Given the description of an element on the screen output the (x, y) to click on. 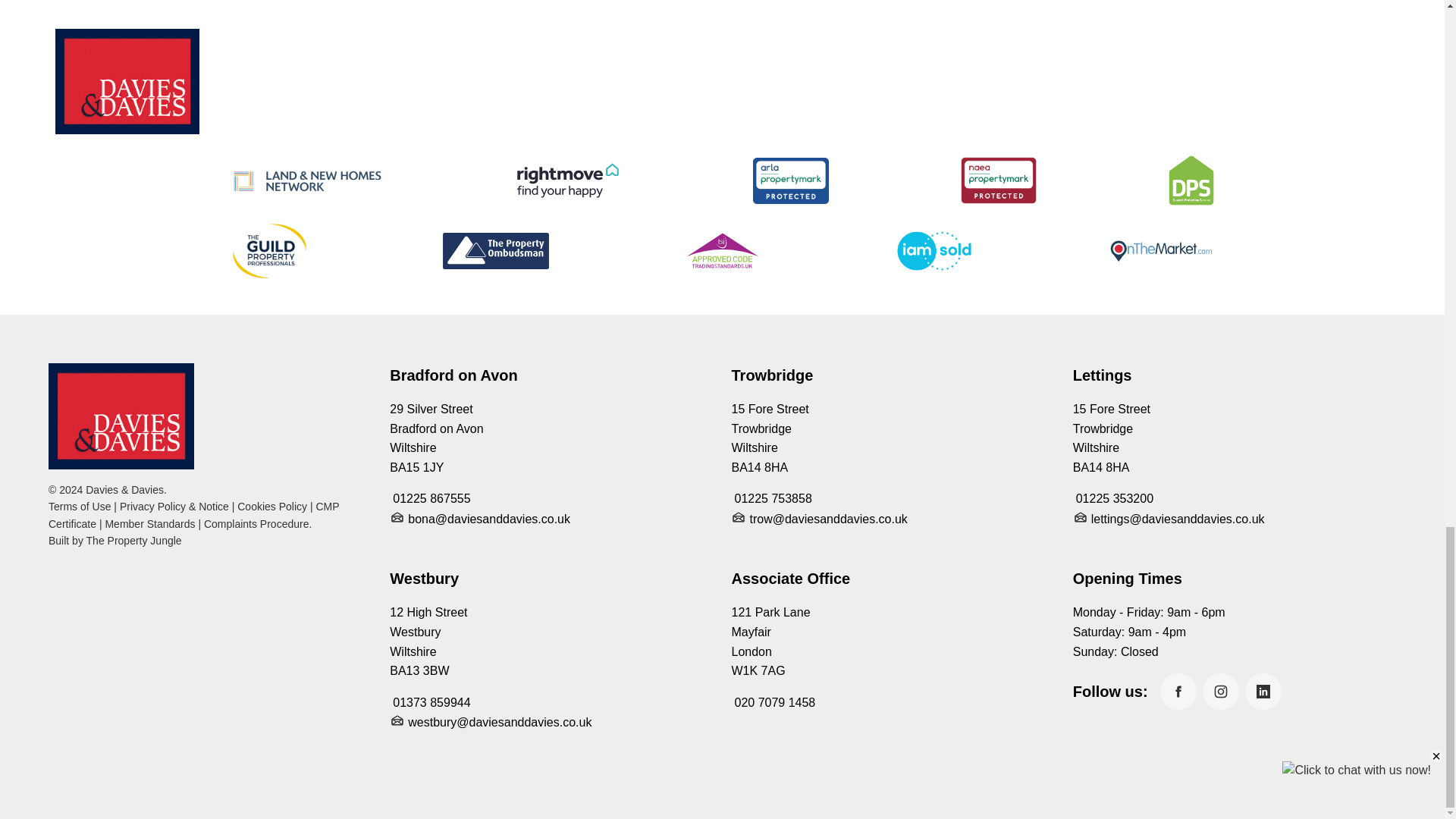
01225 353200 (1113, 498)
Terms of Use (79, 506)
01373 859944 (430, 702)
Cookies Policy (272, 506)
01225 753858 (770, 498)
Cookies Policy (272, 506)
CMP Certificate (193, 514)
Complaints Procedure (255, 523)
01225 867555 (430, 498)
Terms of Use (79, 506)
Privacy Policy (173, 506)
Member Standards (149, 523)
Built by The Property Jungle (115, 540)
